Given the description of an element on the screen output the (x, y) to click on. 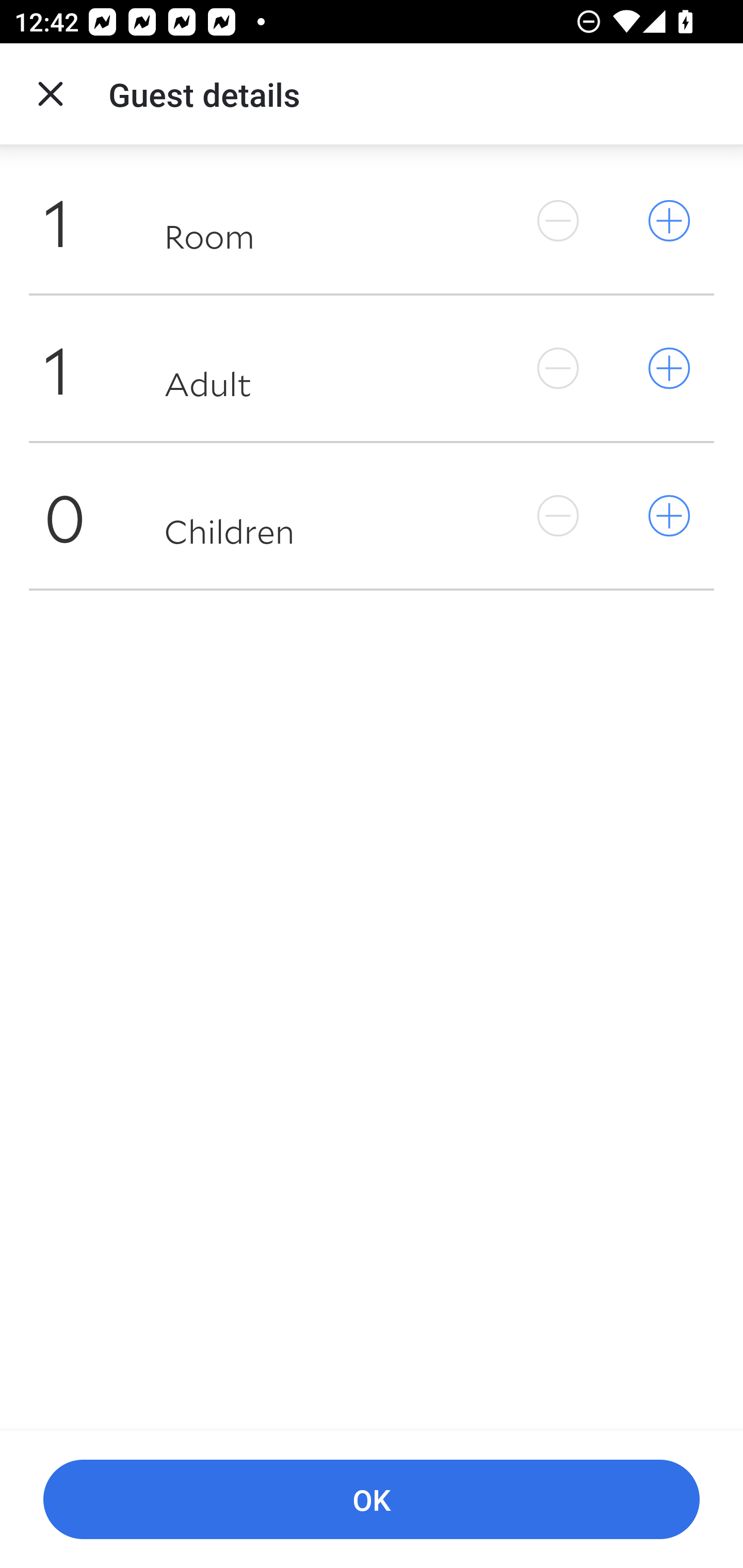
OK (371, 1499)
